Given the description of an element on the screen output the (x, y) to click on. 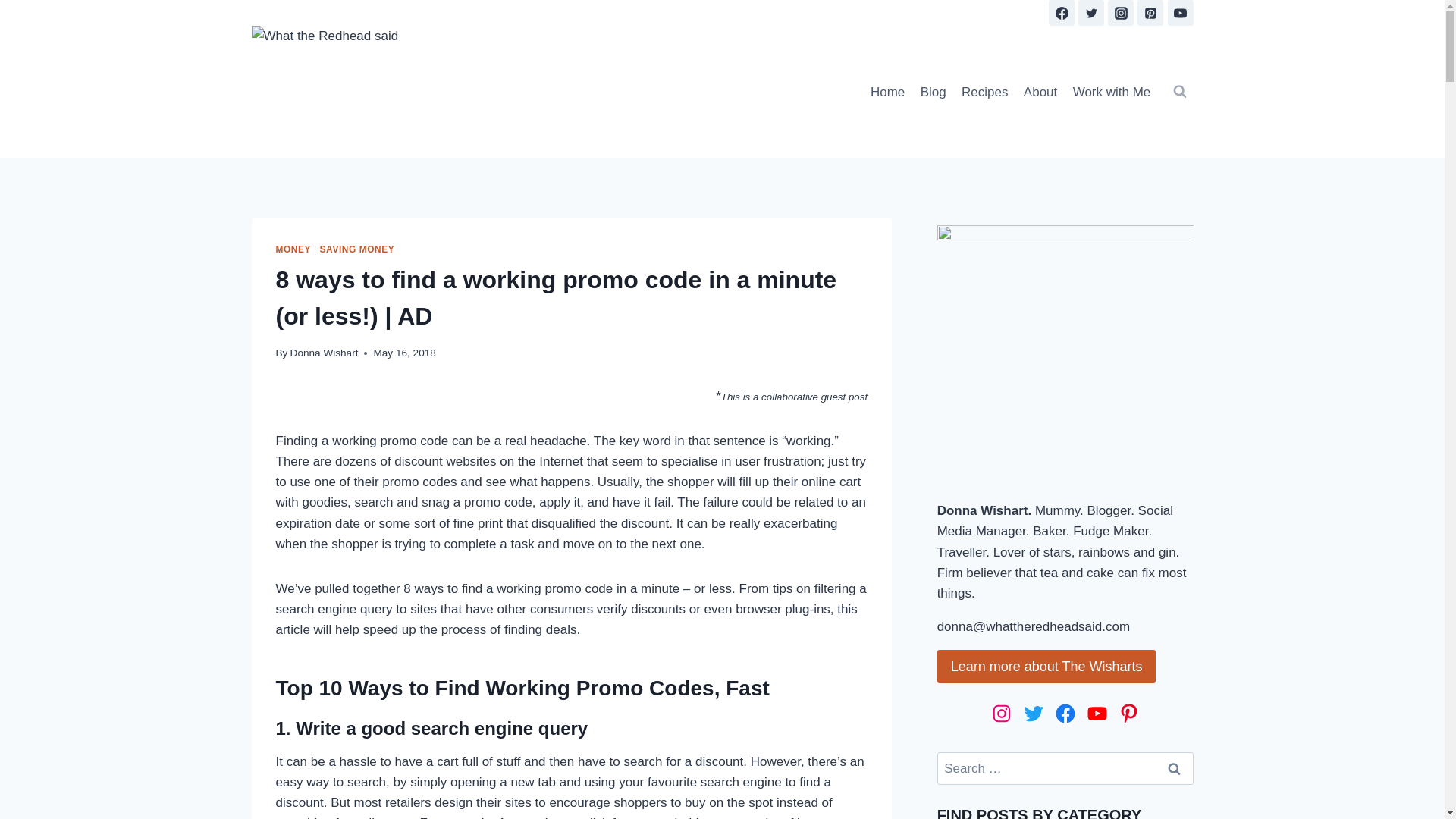
Recipes (984, 91)
Donna Wishart (323, 352)
Search (1174, 768)
Work with Me (1110, 91)
About (1040, 91)
Search (1174, 768)
Home (887, 91)
SAVING MONEY (357, 249)
Blog (932, 91)
MONEY (293, 249)
